Given the description of an element on the screen output the (x, y) to click on. 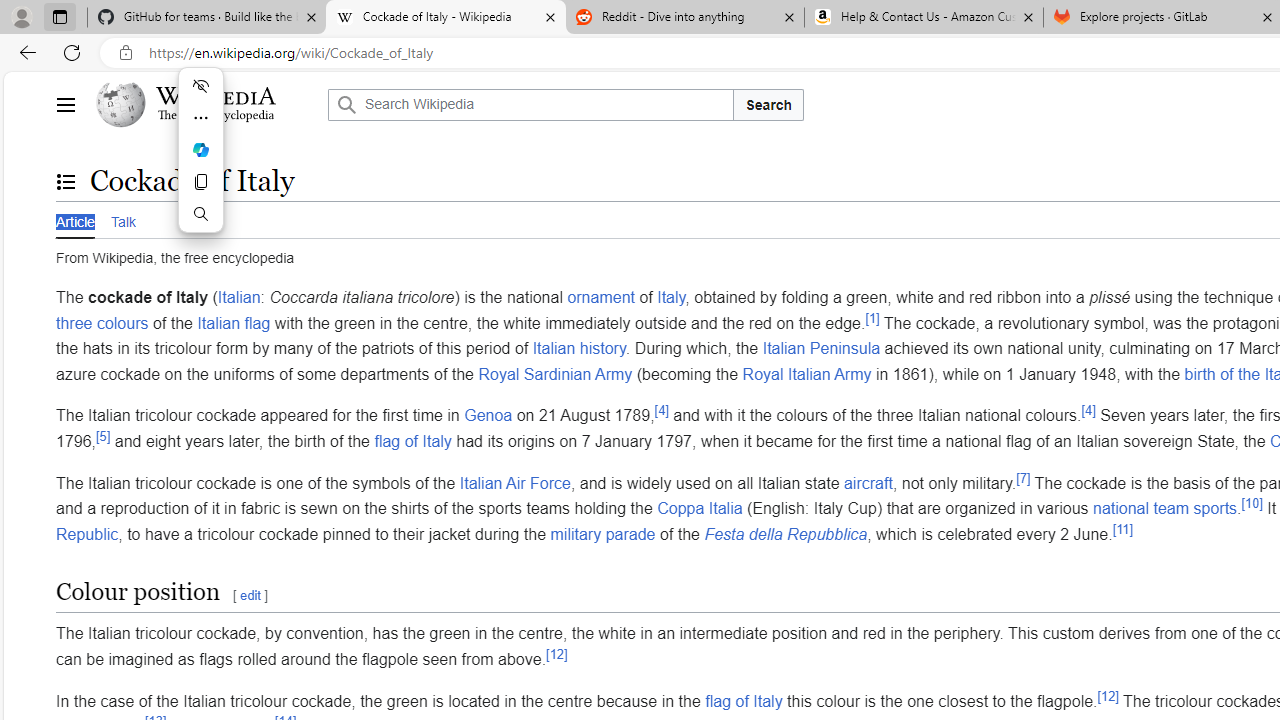
military parade (602, 533)
national team sports (1165, 508)
Royal Sardinian Army (555, 374)
Toggle the table of contents (65, 181)
Ask Copilot (200, 149)
Article (75, 219)
[11] (1123, 529)
